Given the description of an element on the screen output the (x, y) to click on. 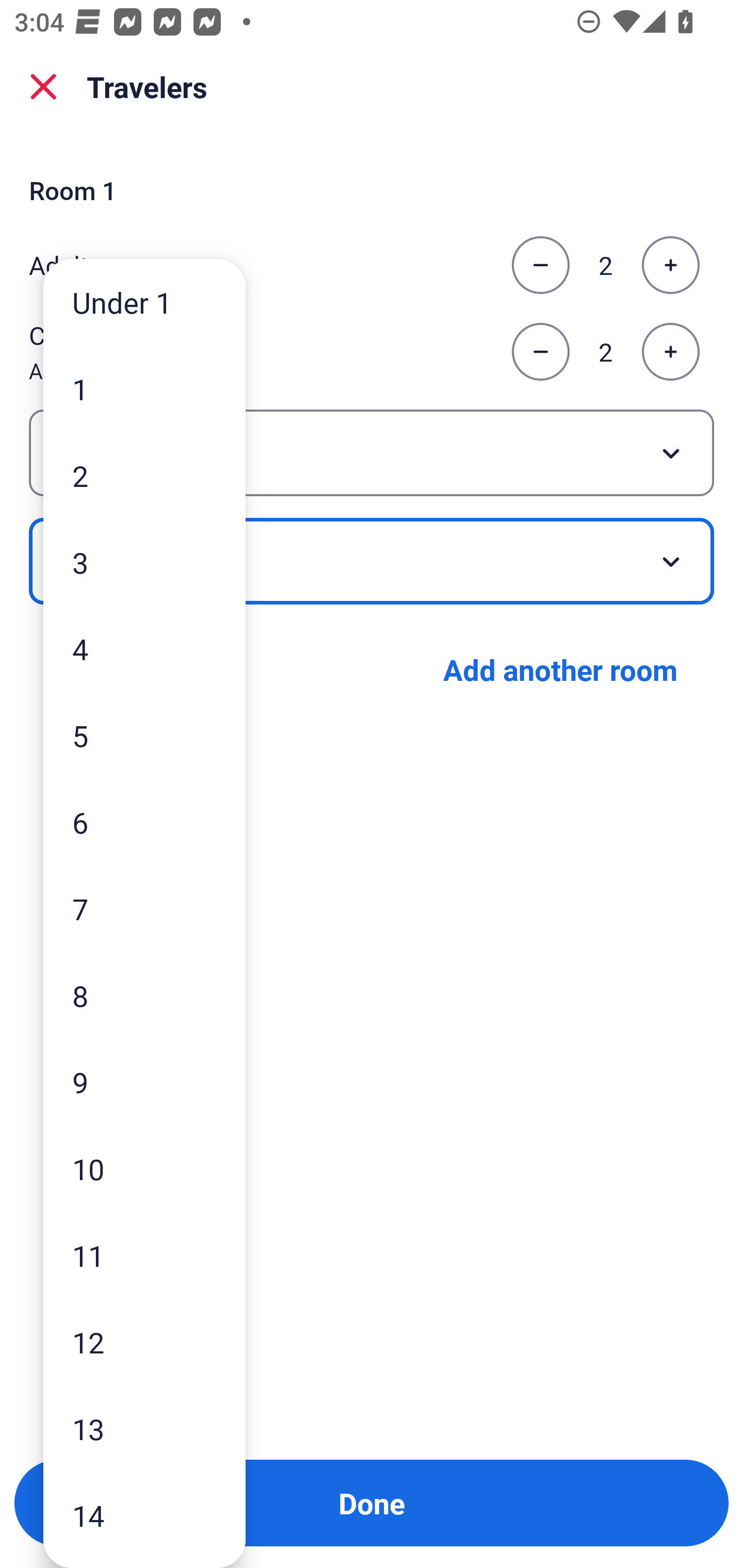
Under 1 (144, 301)
1 (144, 388)
2 (144, 475)
3 (144, 562)
4 (144, 648)
5 (144, 735)
6 (144, 822)
7 (144, 908)
8 (144, 994)
9 (144, 1081)
10 (144, 1168)
11 (144, 1255)
12 (144, 1342)
13 (144, 1429)
14 (144, 1515)
